Given the description of an element on the screen output the (x, y) to click on. 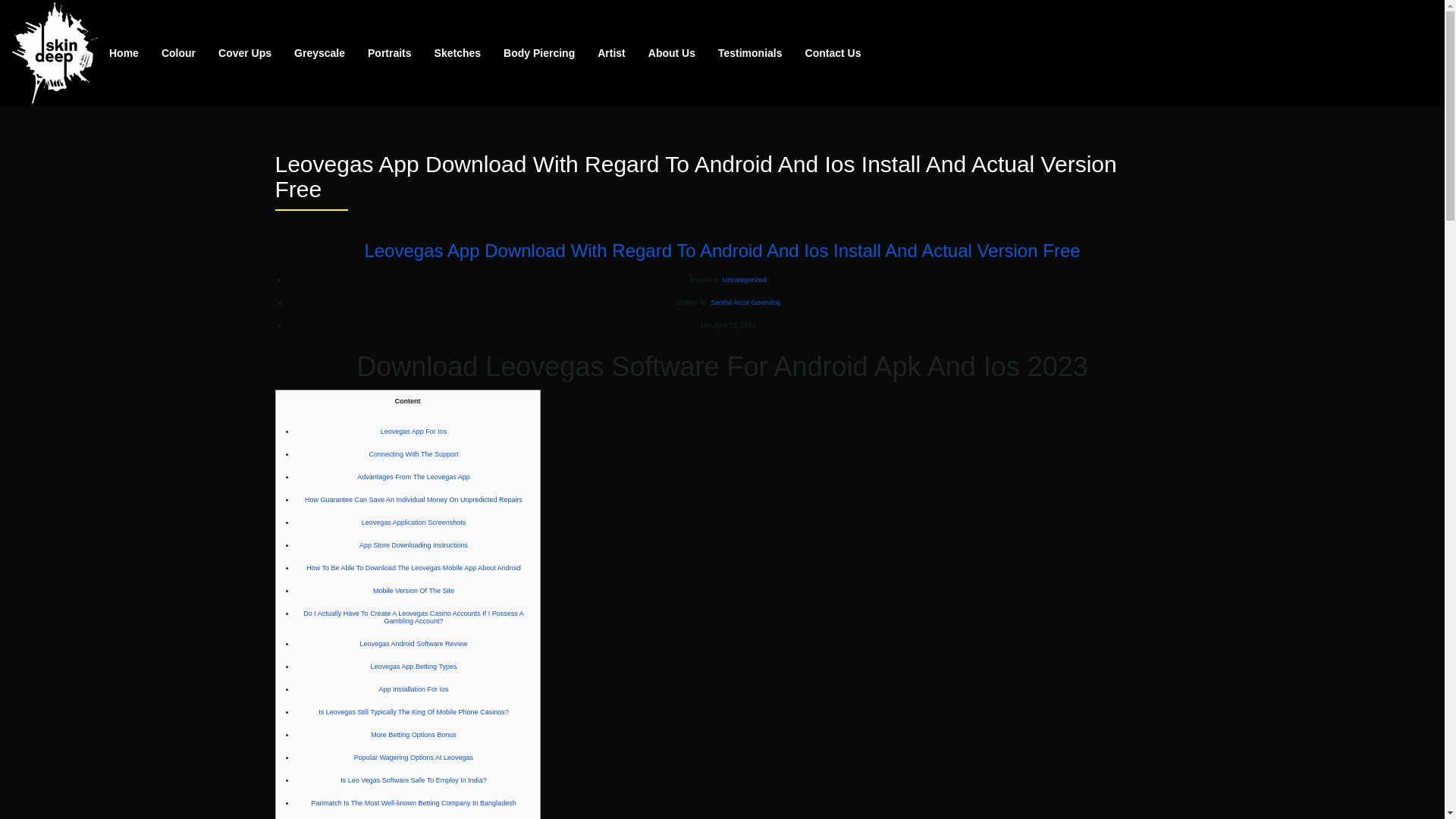
More Betting Options Bonus (414, 734)
Connecting With The Support (413, 453)
Popular Wagering Options At Leovegas (413, 757)
App Installation For Ios (413, 688)
Uncategorized (744, 279)
Leovegas Android Software Review (413, 643)
Leovegas App For Ios (413, 430)
Senthil Arcot Govindraj (745, 302)
App Store Downloading Instructions (413, 544)
Is Leo Vegas Software Safe To Employ In India? (413, 779)
Mobile Version Of The Site (413, 590)
